Given the description of an element on the screen output the (x, y) to click on. 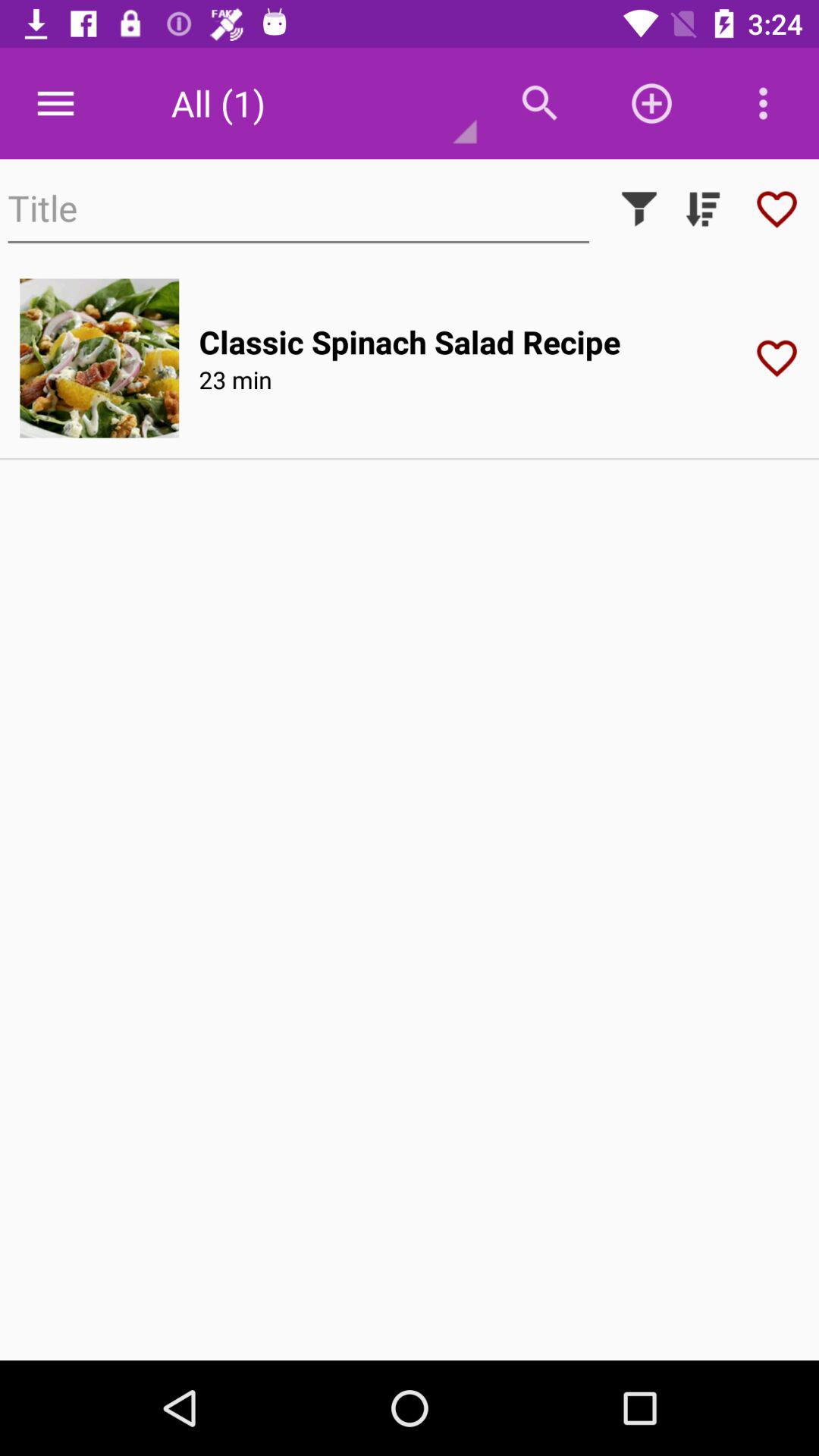
select the download option (702, 208)
